Given the description of an element on the screen output the (x, y) to click on. 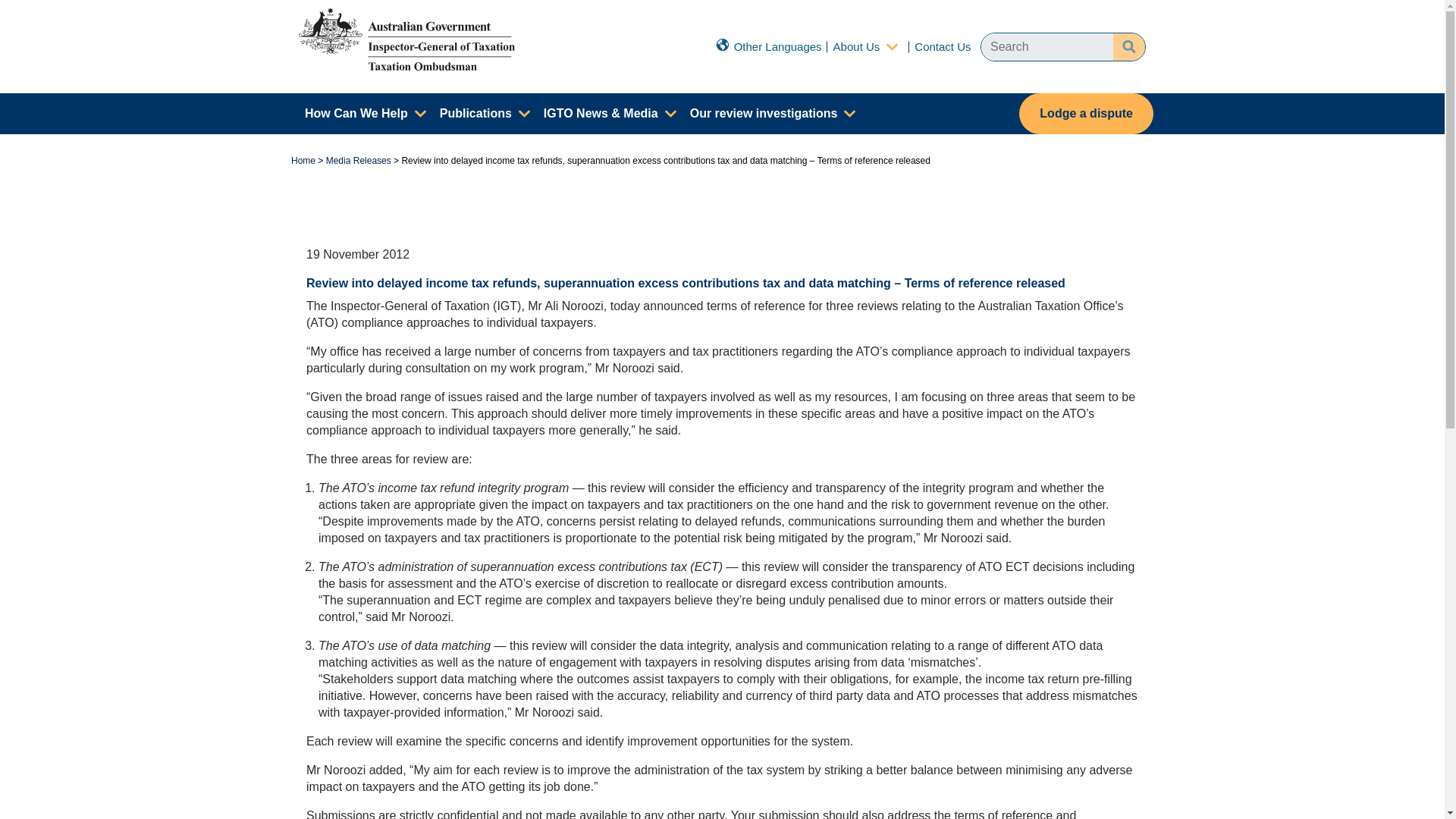
About Us (856, 45)
Other Languages (768, 45)
Contact Us (942, 45)
IGTO (406, 38)
